Given the description of an element on the screen output the (x, y) to click on. 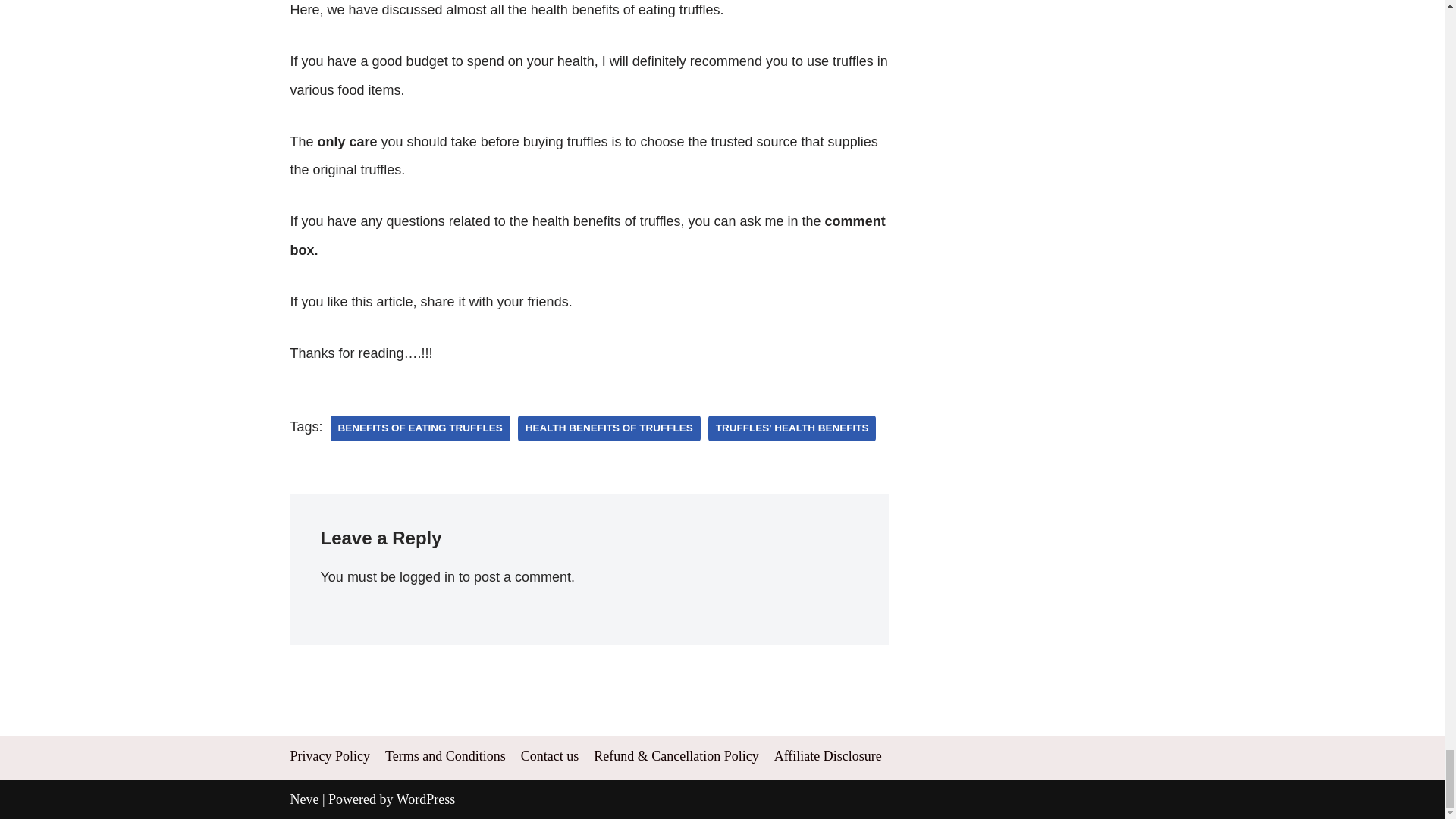
Health benefits of truffles (609, 428)
benefits of eating truffles (420, 428)
Truffles' health benefits (791, 428)
